Given the description of an element on the screen output the (x, y) to click on. 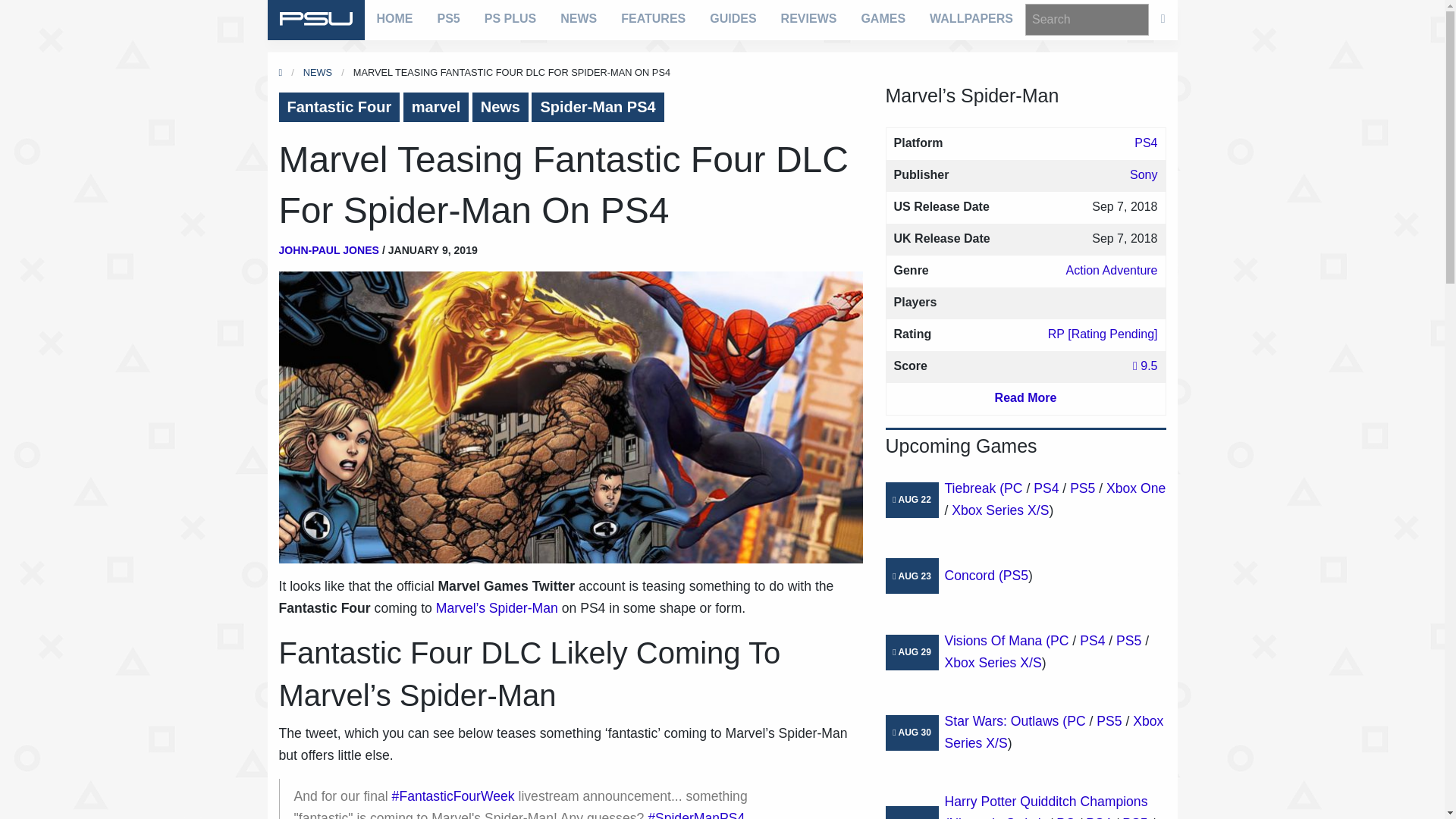
PS5 (448, 18)
NEWS (316, 71)
JOHN-PAUL JONES (328, 250)
News (499, 107)
Spider-Man PS4 (597, 107)
marvel (435, 107)
REVIEWS (808, 18)
HOME (394, 18)
Sony (1143, 174)
GUIDES (732, 18)
